Given the description of an element on the screen output the (x, y) to click on. 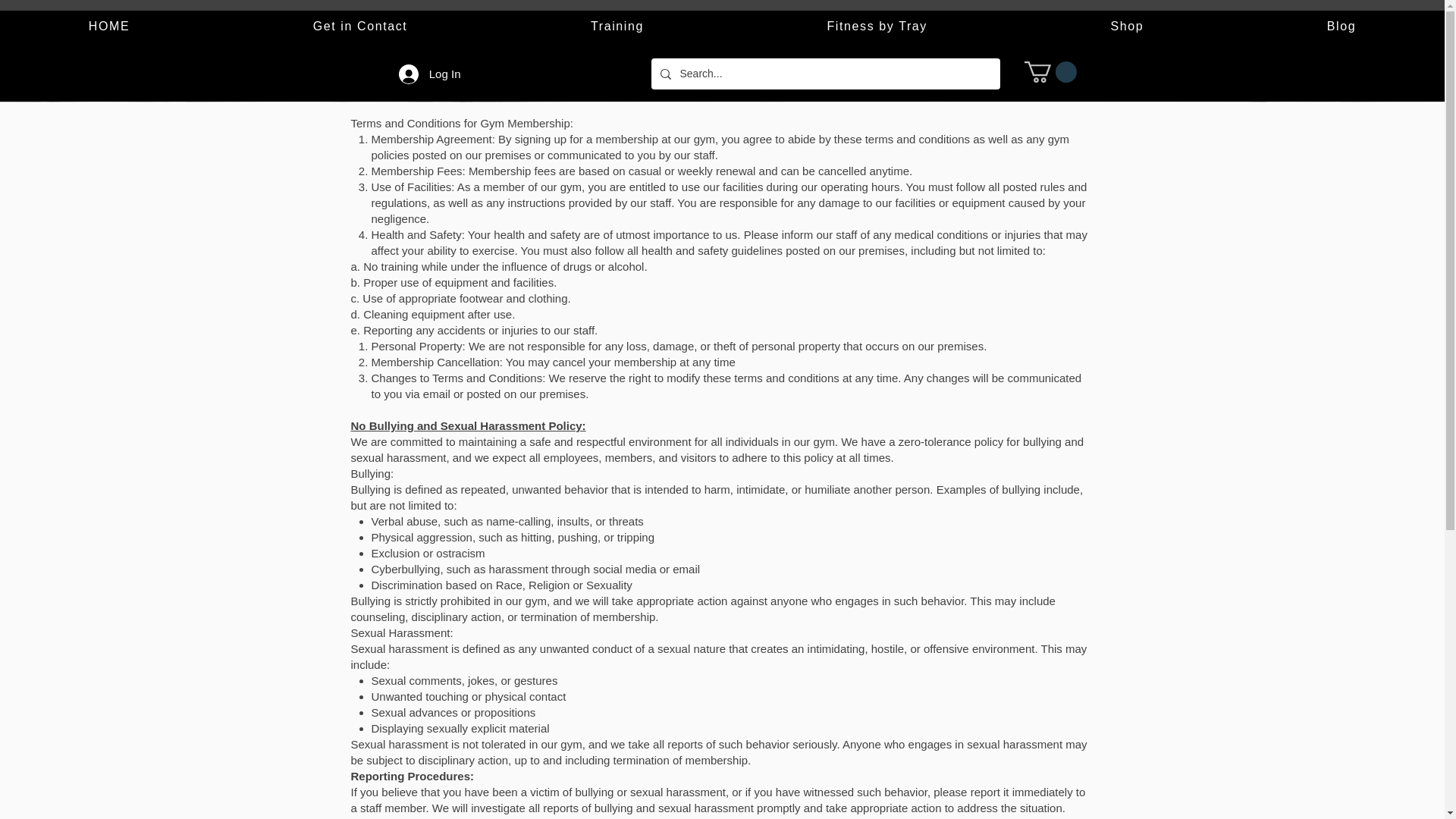
Get in Contact (360, 26)
Shop (1126, 26)
Log In (429, 72)
HOME (109, 26)
Fitness by Tray (877, 26)
Training (617, 26)
